Given the description of an element on the screen output the (x, y) to click on. 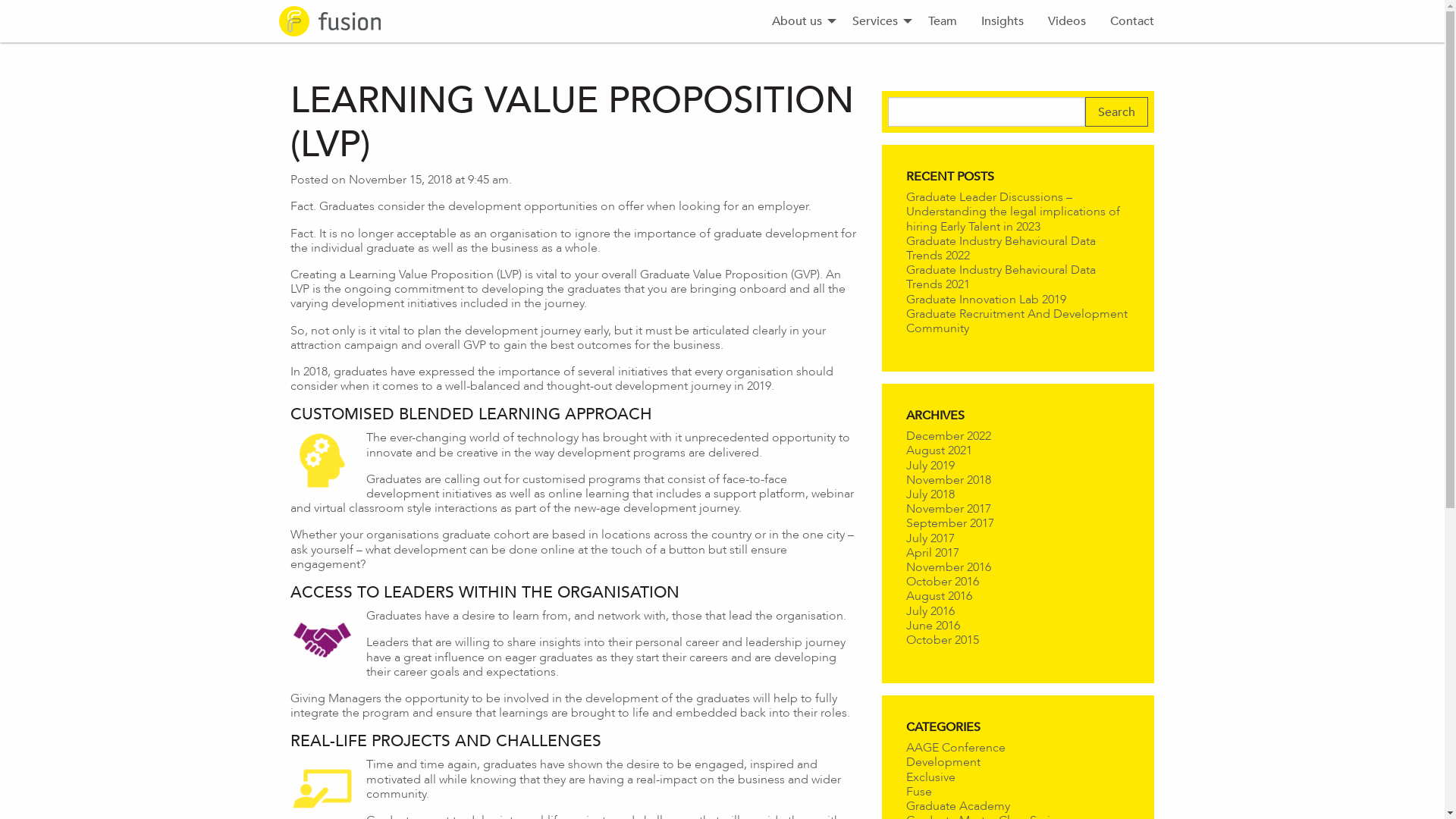
Graduate Recruitment And Development Community Element type: text (1015, 320)
Insights Element type: text (1002, 21)
August 2016 Element type: text (938, 595)
Fuse Element type: text (918, 791)
April 2017 Element type: text (931, 552)
Graduate Innovation Lab 2019 Element type: text (985, 299)
Graduate Academy Element type: text (957, 805)
July 2018 Element type: text (929, 494)
Services Element type: text (878, 21)
October 2015 Element type: text (941, 639)
AAGE Conference Element type: text (954, 747)
Development Element type: text (942, 761)
December 2022 Element type: text (947, 435)
July 2019 Element type: text (929, 465)
November 2018 Element type: text (947, 479)
June 2016 Element type: text (932, 625)
Videos Element type: text (1066, 21)
Graduate Industry Behavioural Data Trends 2022 Element type: text (1000, 247)
Team Element type: text (942, 21)
October 2016 Element type: text (941, 581)
August 2021 Element type: text (938, 450)
Exclusive Element type: text (929, 776)
July 2017 Element type: text (929, 538)
July 2016 Element type: text (929, 610)
Search Element type: text (1116, 111)
November 2017 Element type: text (947, 508)
Contact Element type: text (1132, 21)
November 2016 Element type: text (947, 566)
Graduate Industry Behavioural Data Trends 2021 Element type: text (1000, 276)
About us Element type: text (799, 21)
September 2017 Element type: text (949, 522)
